Given the description of an element on the screen output the (x, y) to click on. 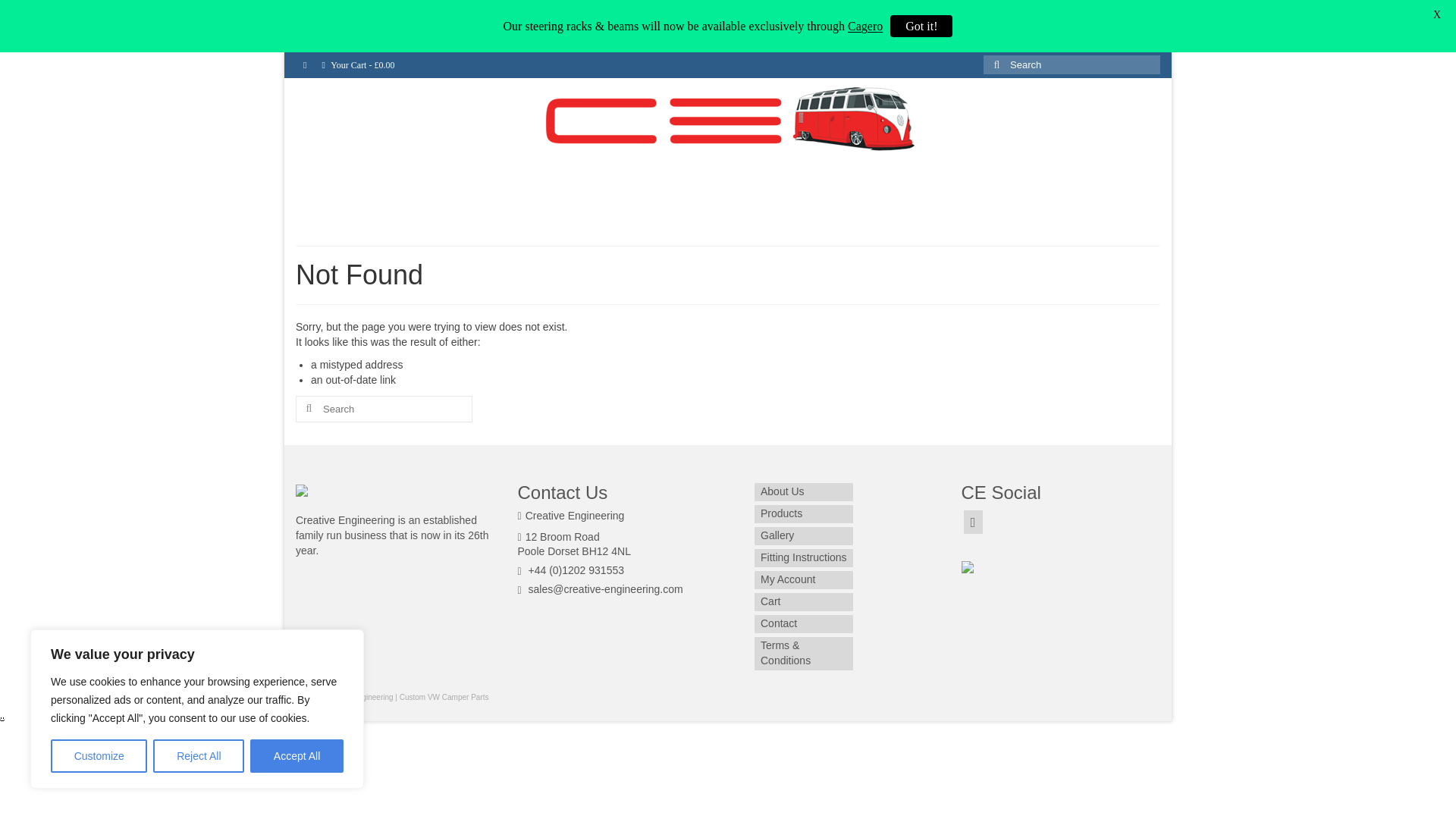
View your shopping cart (357, 64)
Products (557, 214)
About Us (483, 214)
Gallery (627, 214)
